Given the description of an element on the screen output the (x, y) to click on. 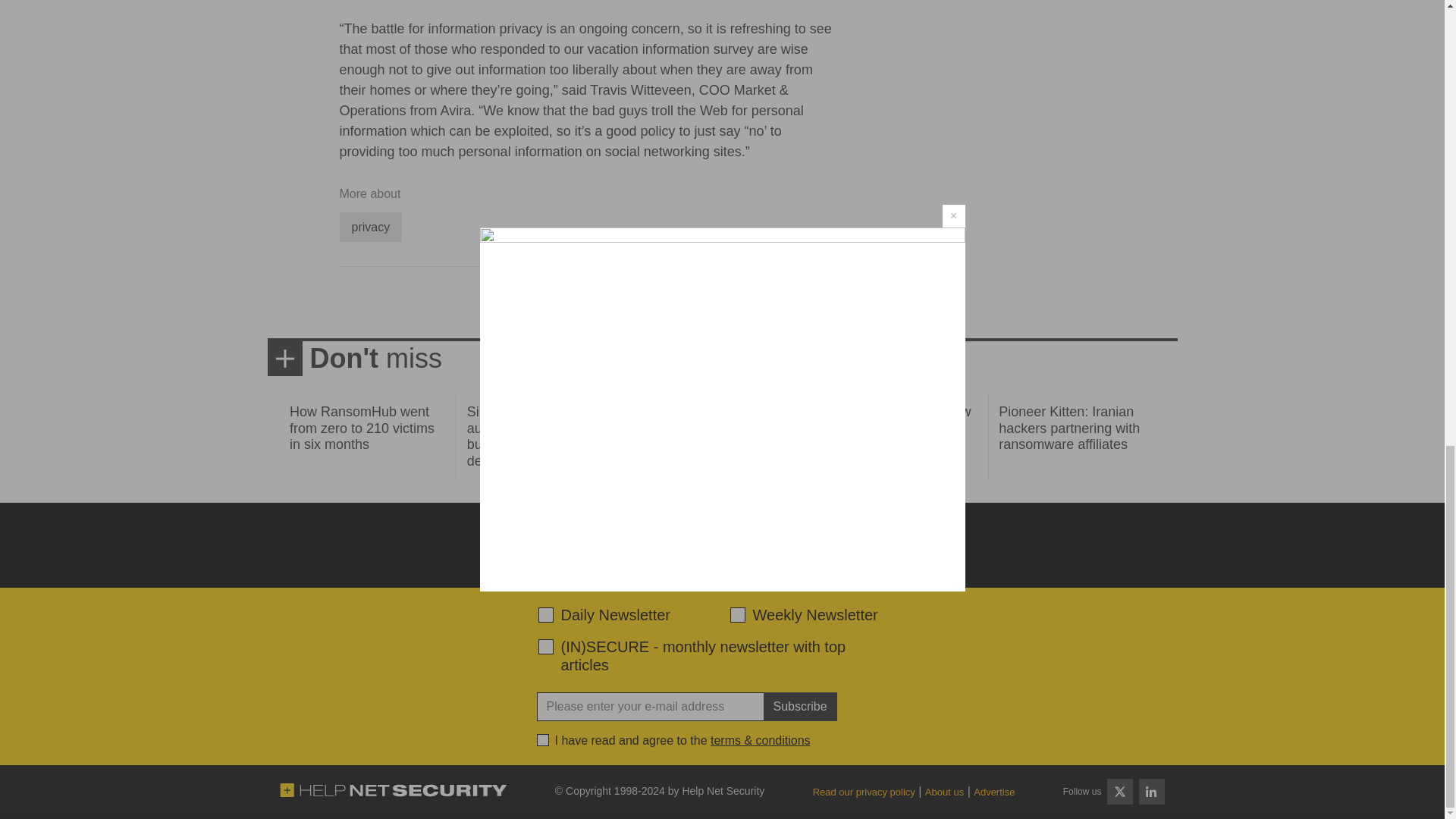
How RansomHub went from zero to 210 victims in six months (361, 428)
1 (542, 739)
d2d471aafa (736, 614)
Subscribe (798, 706)
privacy (371, 226)
privacy (371, 226)
